Given the description of an element on the screen output the (x, y) to click on. 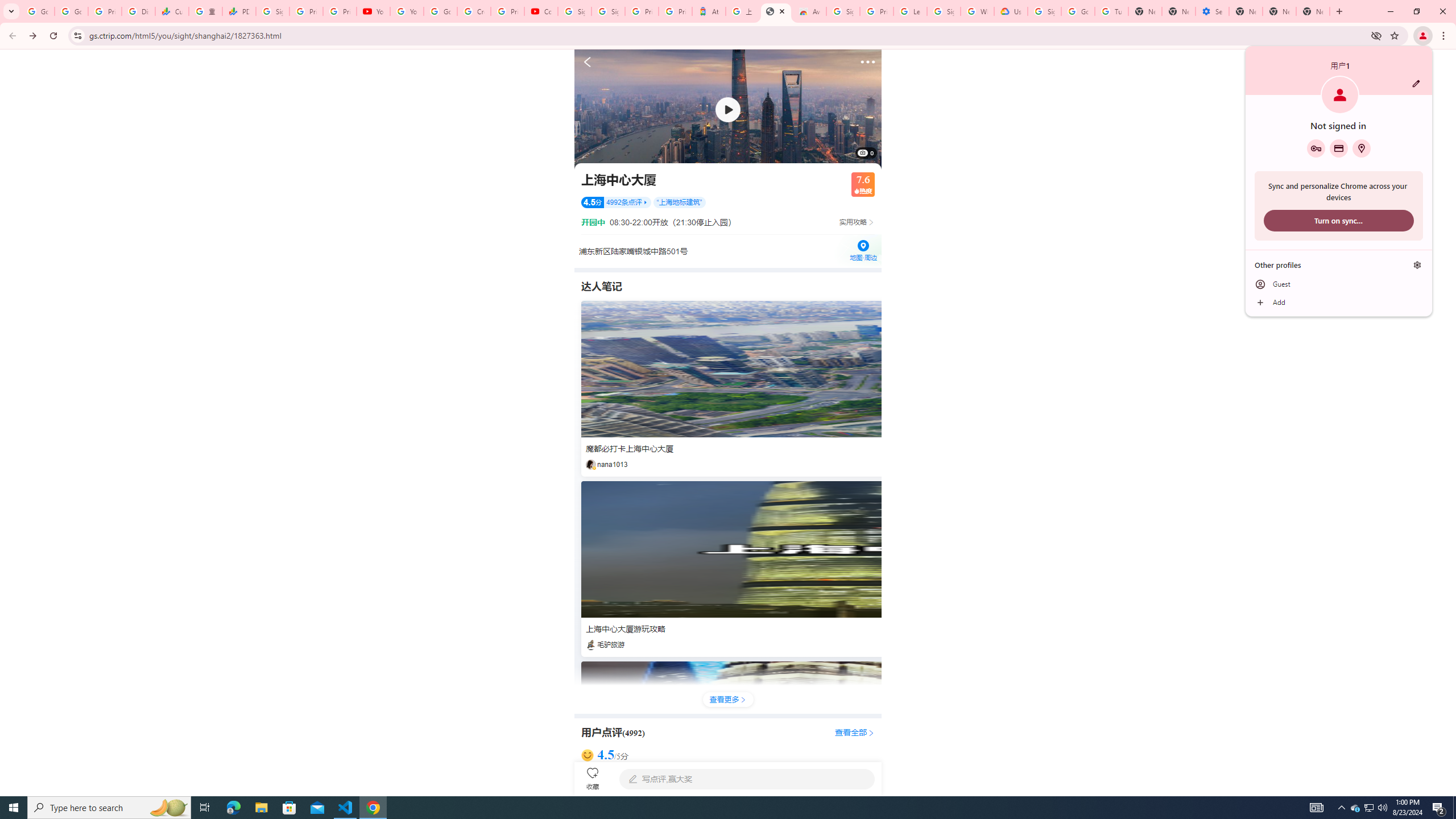
Sign in - Google Accounts (608, 11)
Microsoft Store (289, 807)
Sign in - Google Accounts (943, 11)
Add (1338, 302)
Payment methods (1338, 148)
Customize profile (1415, 83)
User Promoted Notification Area (1368, 807)
